Given the description of an element on the screen output the (x, y) to click on. 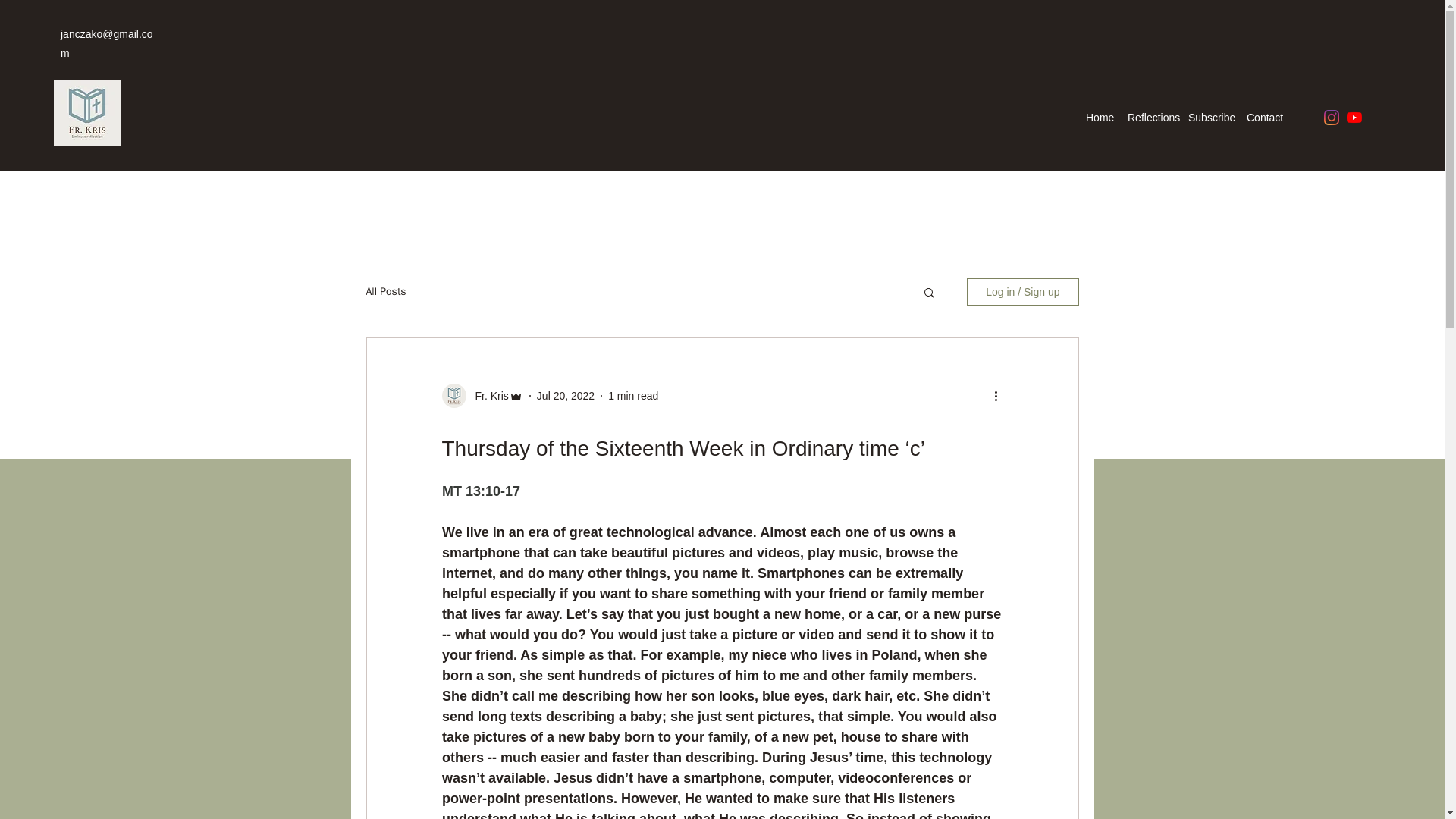
MT 13:10-17 (480, 491)
Subscribe (1209, 117)
All Posts (385, 291)
Home (1098, 117)
Contact (1263, 117)
1 min read (633, 395)
Reflections (1149, 117)
Fr. Kris (486, 396)
Jul 20, 2022 (565, 395)
